Given the description of an element on the screen output the (x, y) to click on. 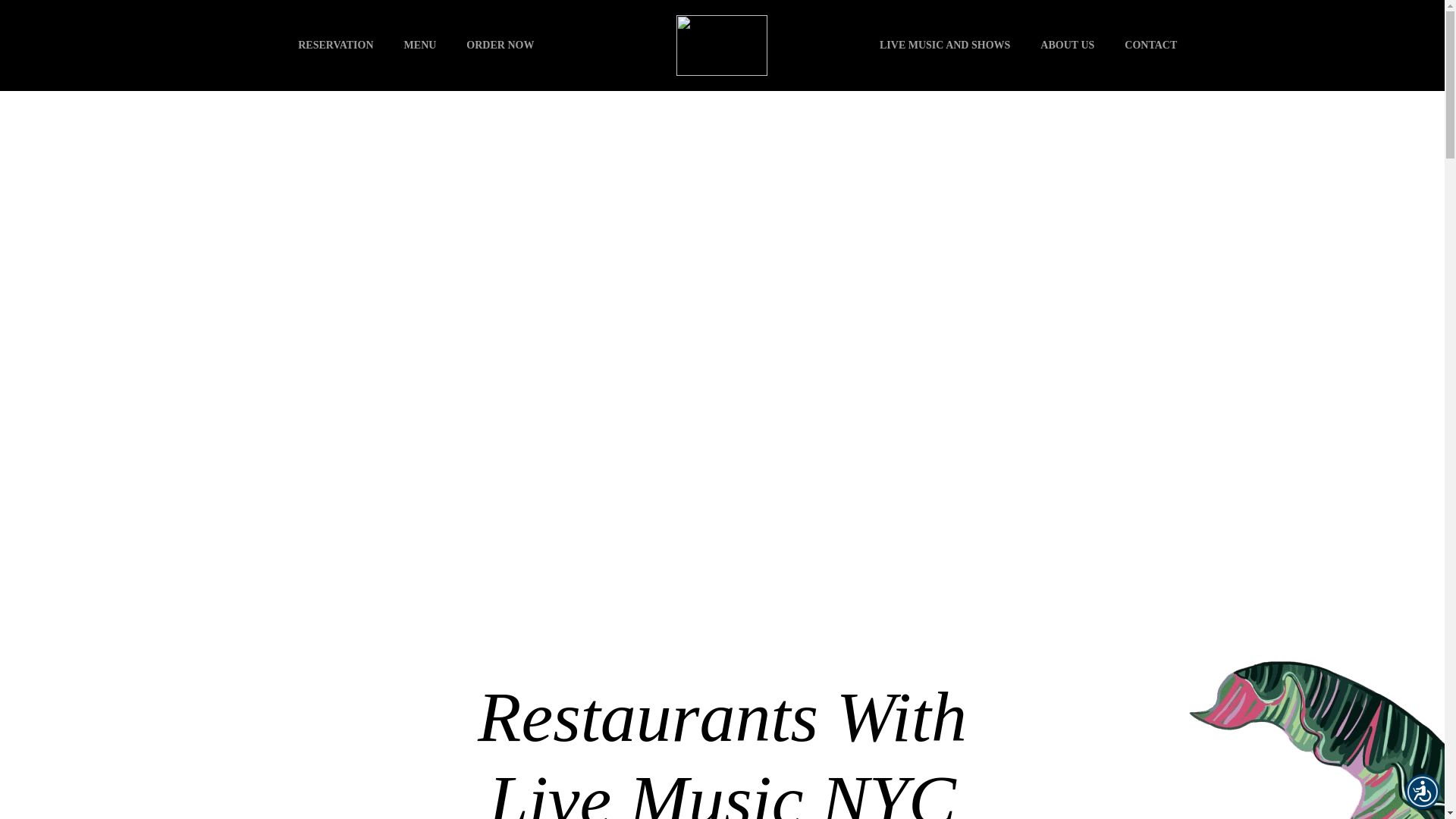
RESERVATION Element type: text (335, 45)
MENU Element type: text (420, 45)
ORDER NOW Element type: text (500, 45)
ABOUT US Element type: text (1067, 45)
CONTACT Element type: text (1150, 45)
LIVE MUSIC AND SHOWS Element type: text (944, 45)
